Given the description of an element on the screen output the (x, y) to click on. 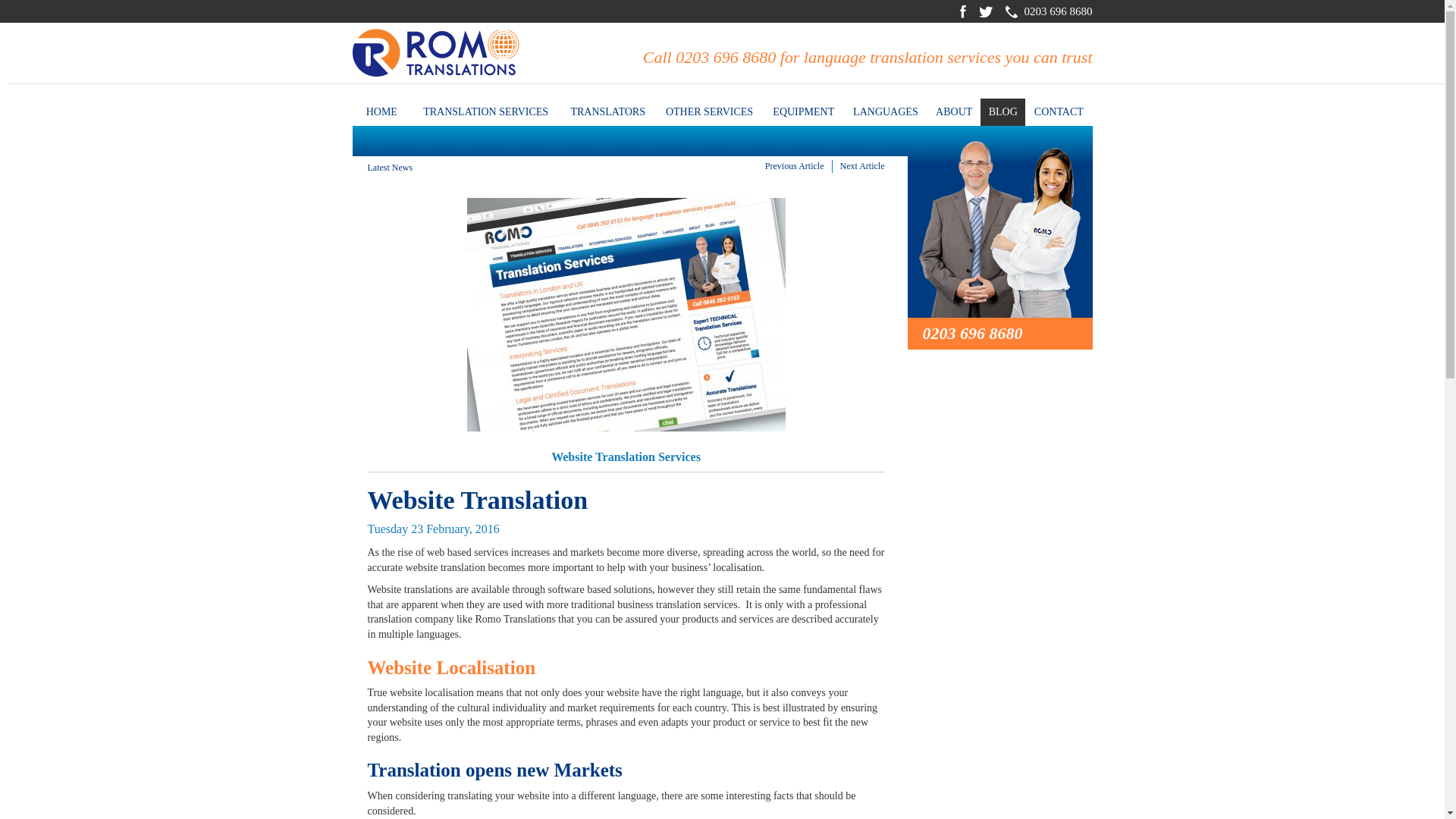
HOME (381, 112)
OTHER SERVICES (708, 112)
EQUIPMENT (803, 112)
LANGUAGES (886, 112)
TRANSLATION SERVICES (485, 112)
TRANSLATORS (607, 112)
